Given the description of an element on the screen output the (x, y) to click on. 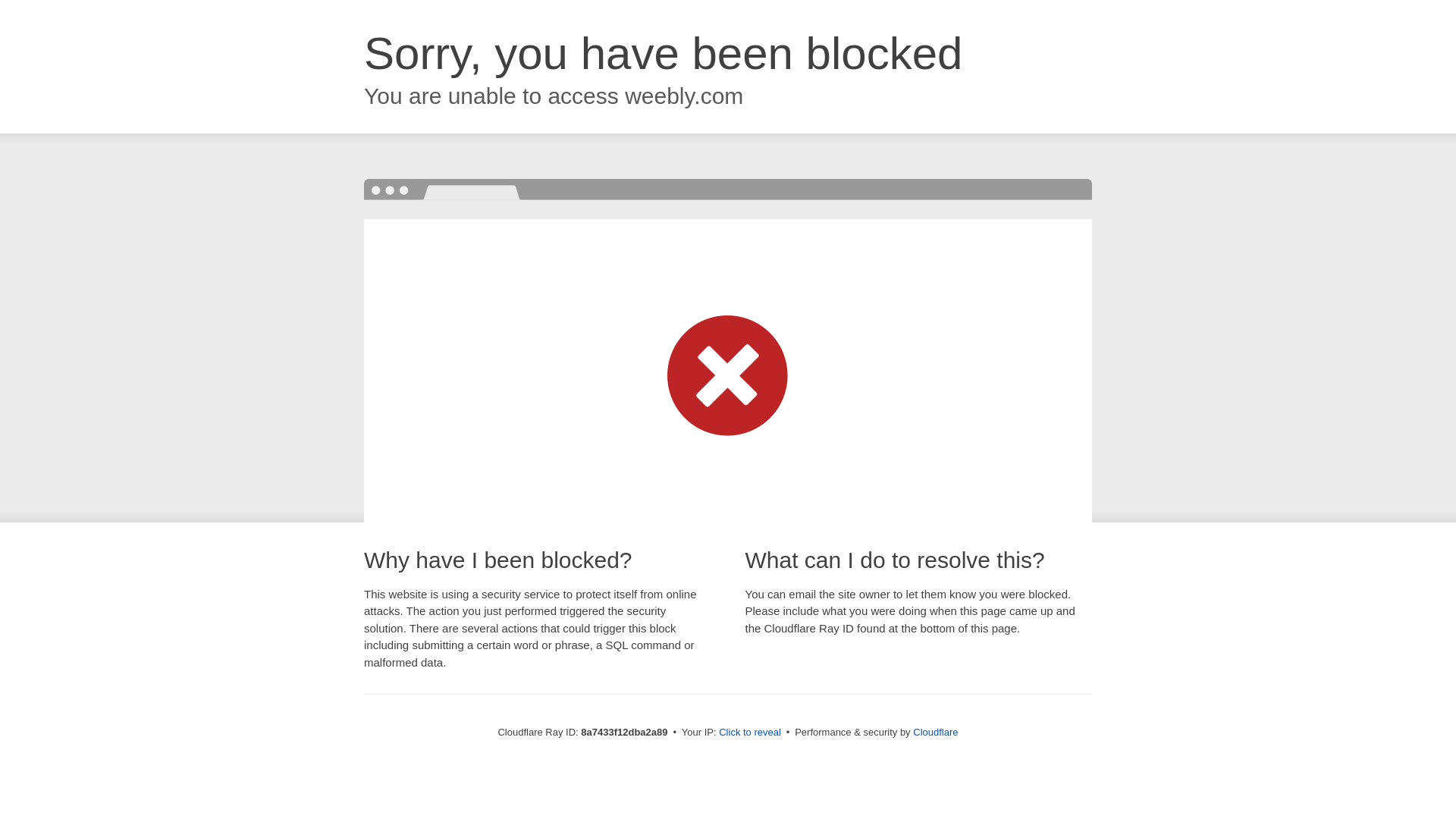
Click to reveal (749, 732)
Cloudflare (935, 731)
